Given the description of an element on the screen output the (x, y) to click on. 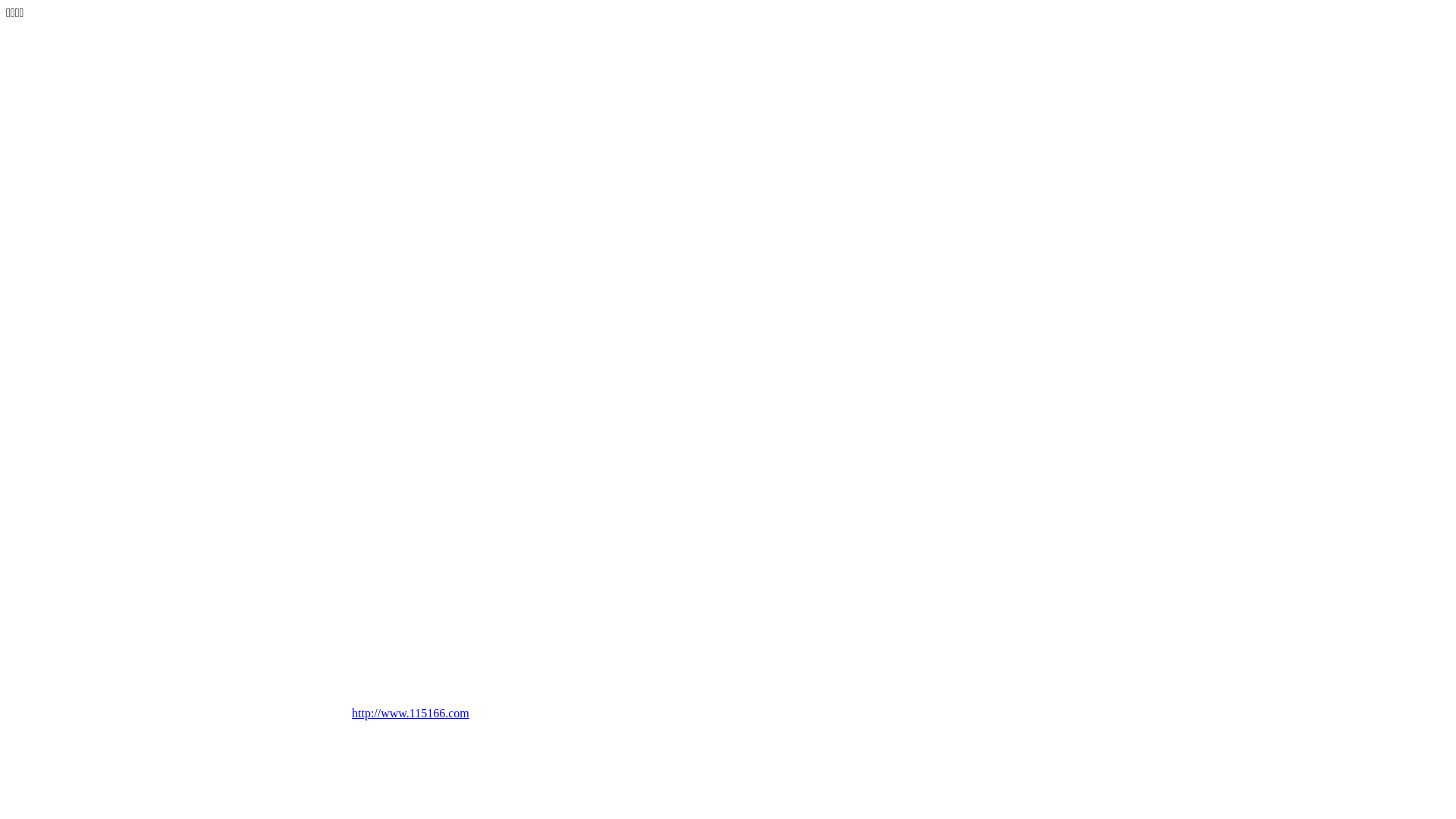
http://www.115166.com Element type: text (434, 719)
